Given the description of an element on the screen output the (x, y) to click on. 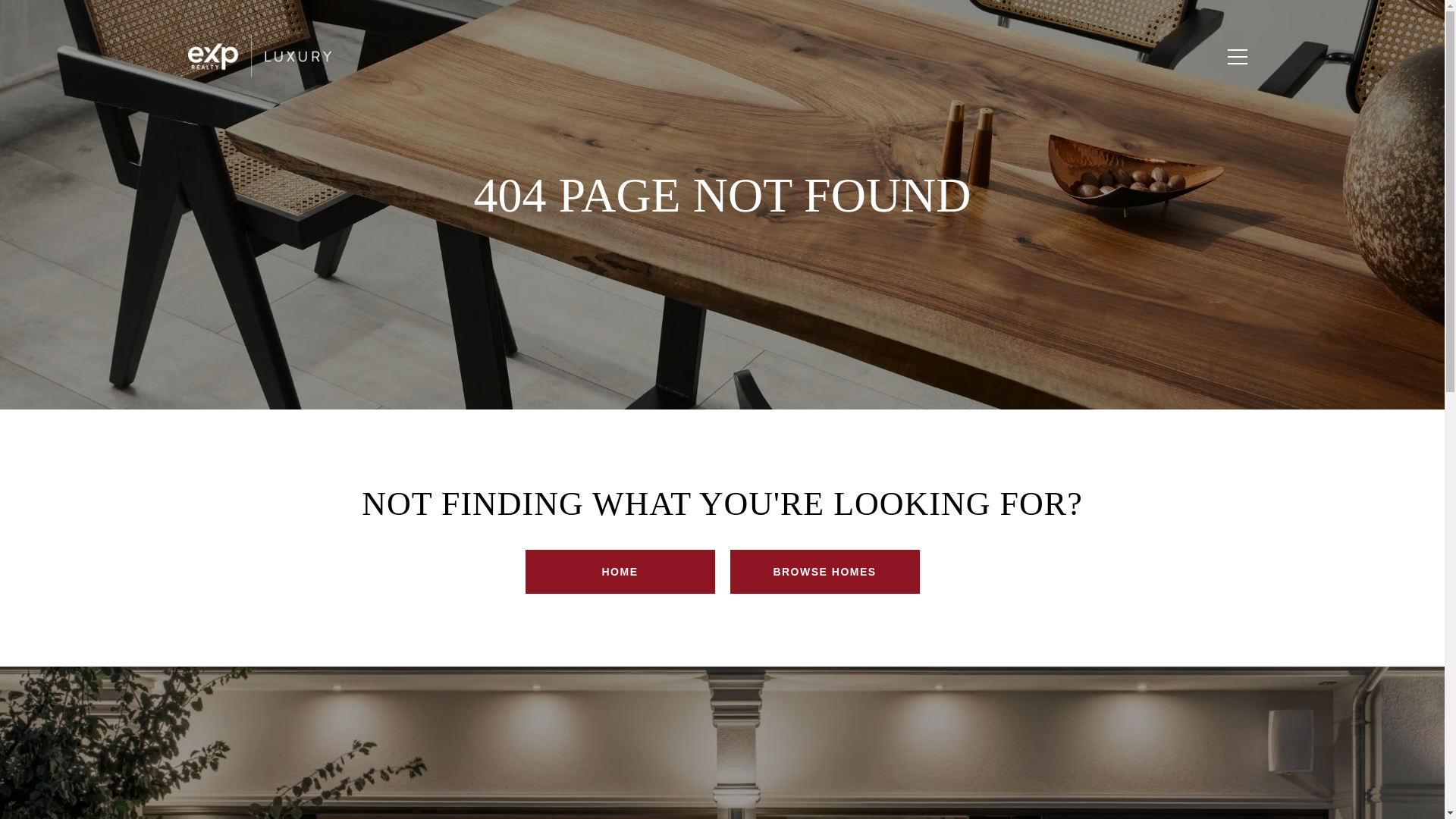
HOME (619, 571)
BROWSE HOMES (823, 571)
